Given the description of an element on the screen output the (x, y) to click on. 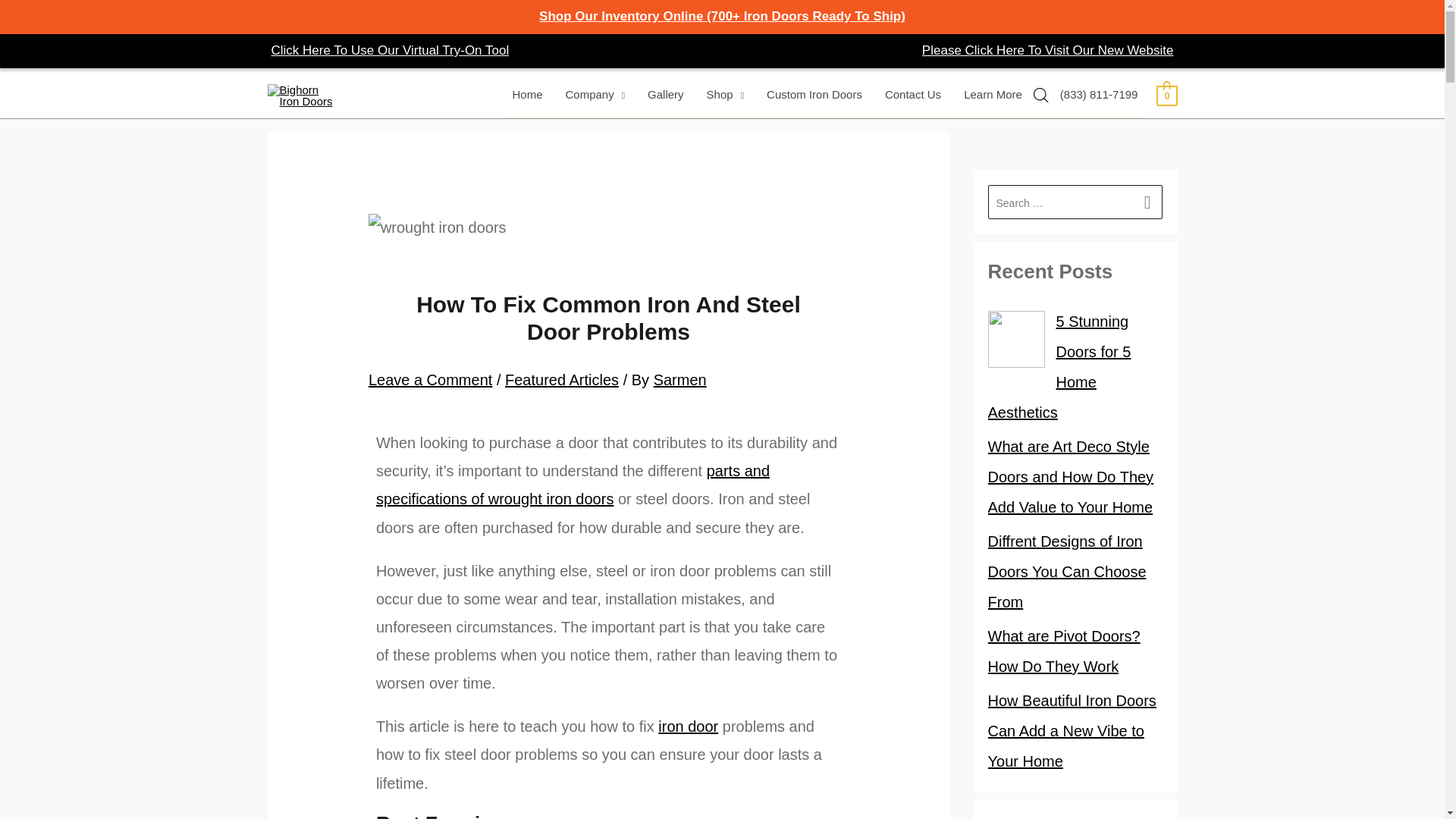
Search (1144, 202)
View all posts by Sarmen (679, 379)
Search (1144, 202)
Home (526, 94)
Gallery (665, 94)
Company (594, 94)
Shop (725, 94)
